Given the description of an element on the screen output the (x, y) to click on. 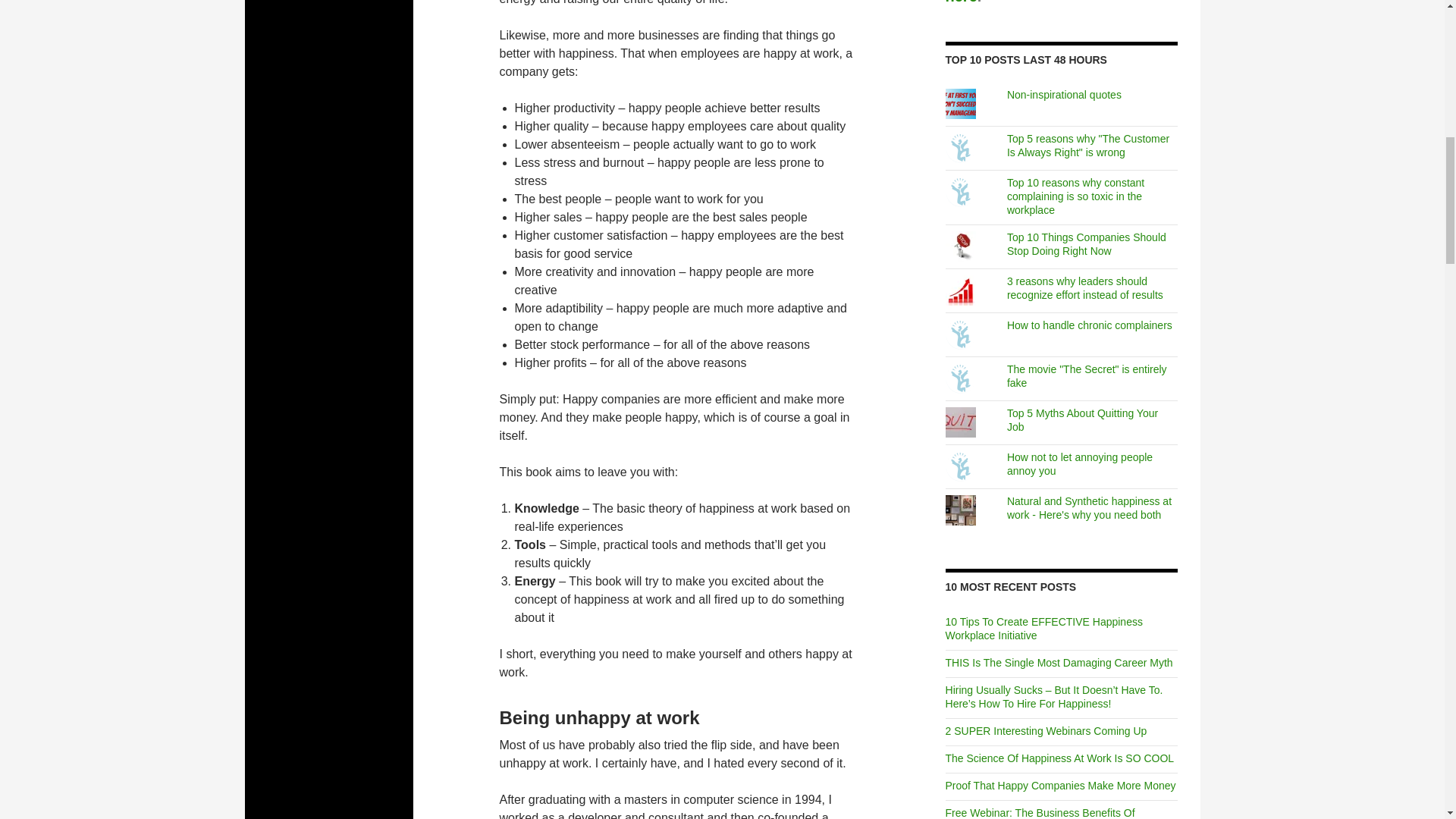
Non-inspirational quotes (1064, 94)
Top 5 reasons why "The Customer Is Always Right" is wrong (1088, 145)
